Given the description of an element on the screen output the (x, y) to click on. 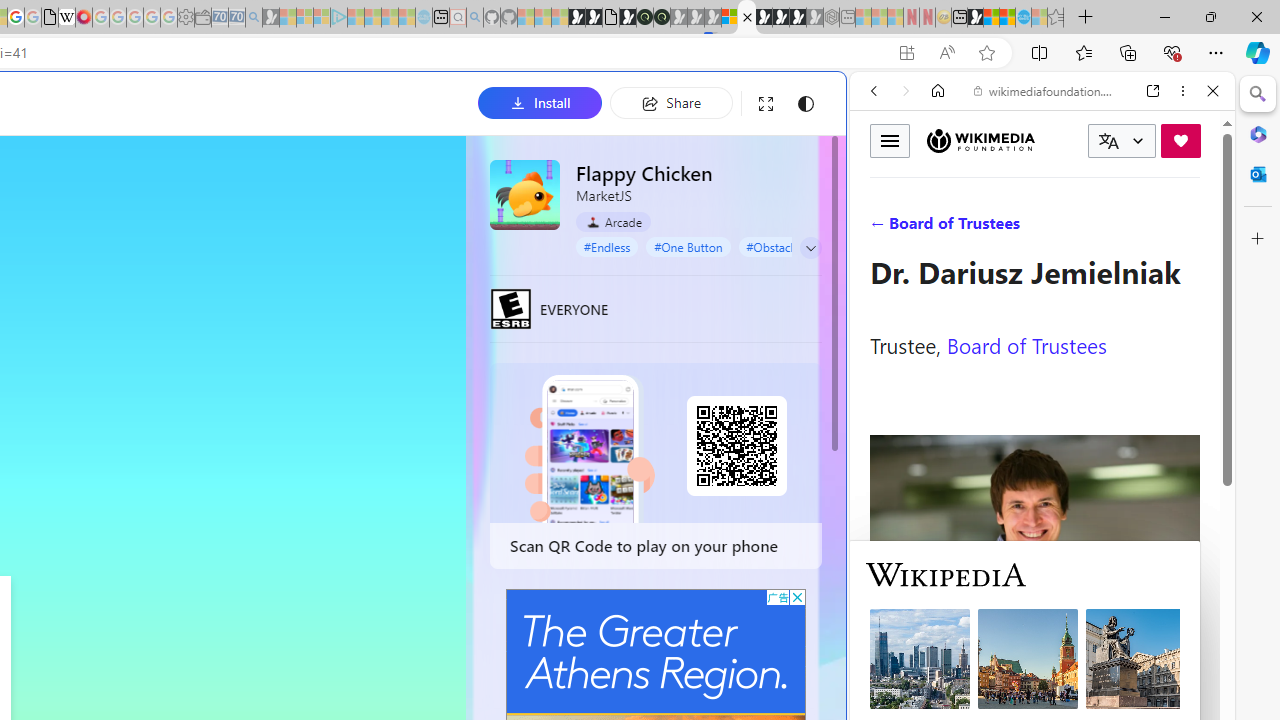
CURRENT LANGUAGE: (1121, 141)
Class: expand-arrow neutral (810, 247)
MSN (975, 17)
Search Filter, VIDEOS (1006, 228)
Close split screen (844, 102)
Settings - Sleeping (185, 17)
#Endless (607, 246)
Tabs you've opened (276, 265)
New tab - Sleeping (847, 17)
